Given the description of an element on the screen output the (x, y) to click on. 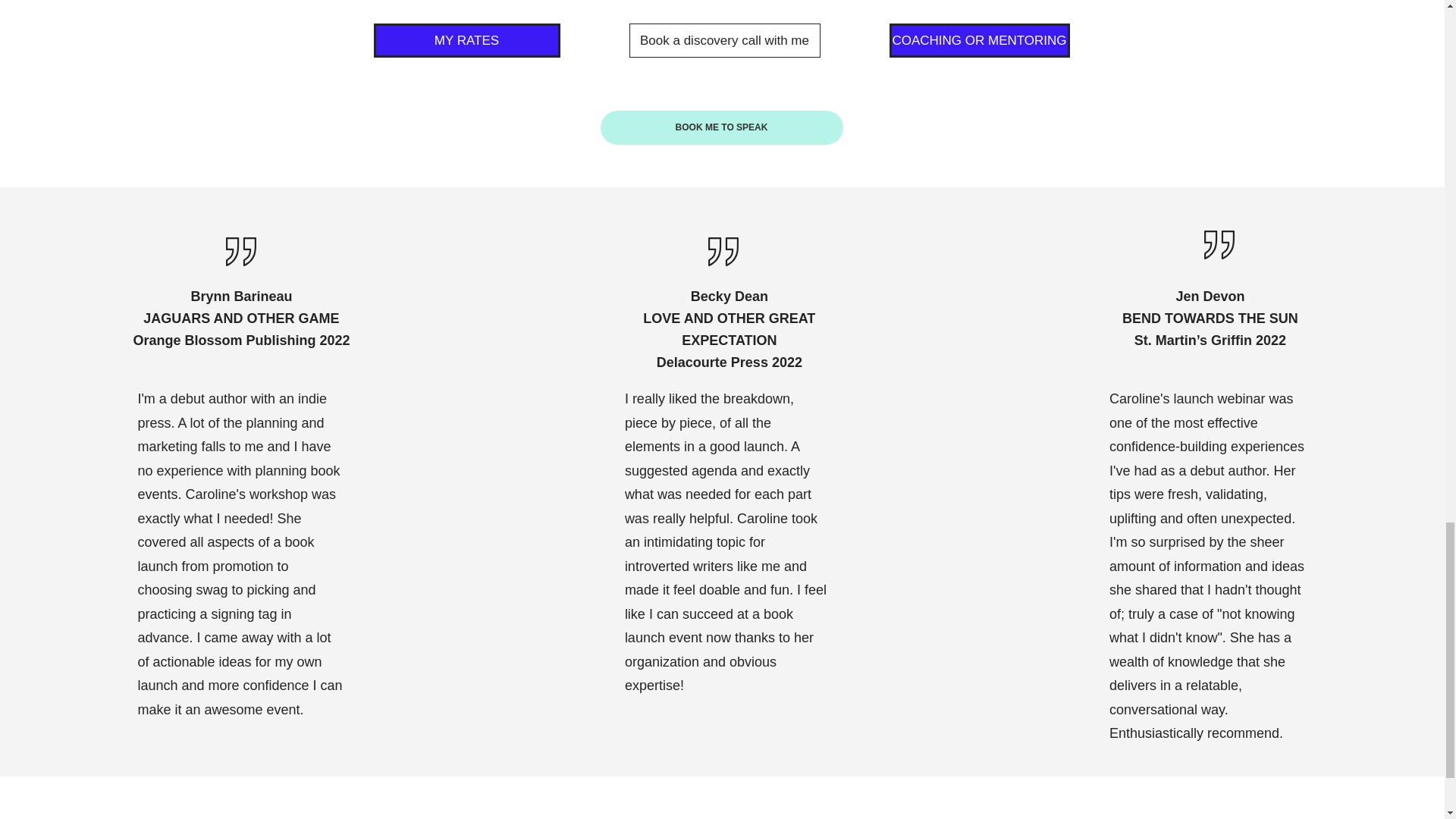
Book a discovery call with me (724, 40)
COACHING OR MENTORING (978, 40)
MY RATES (465, 40)
BOOK ME TO SPEAK (721, 127)
